Given the description of an element on the screen output the (x, y) to click on. 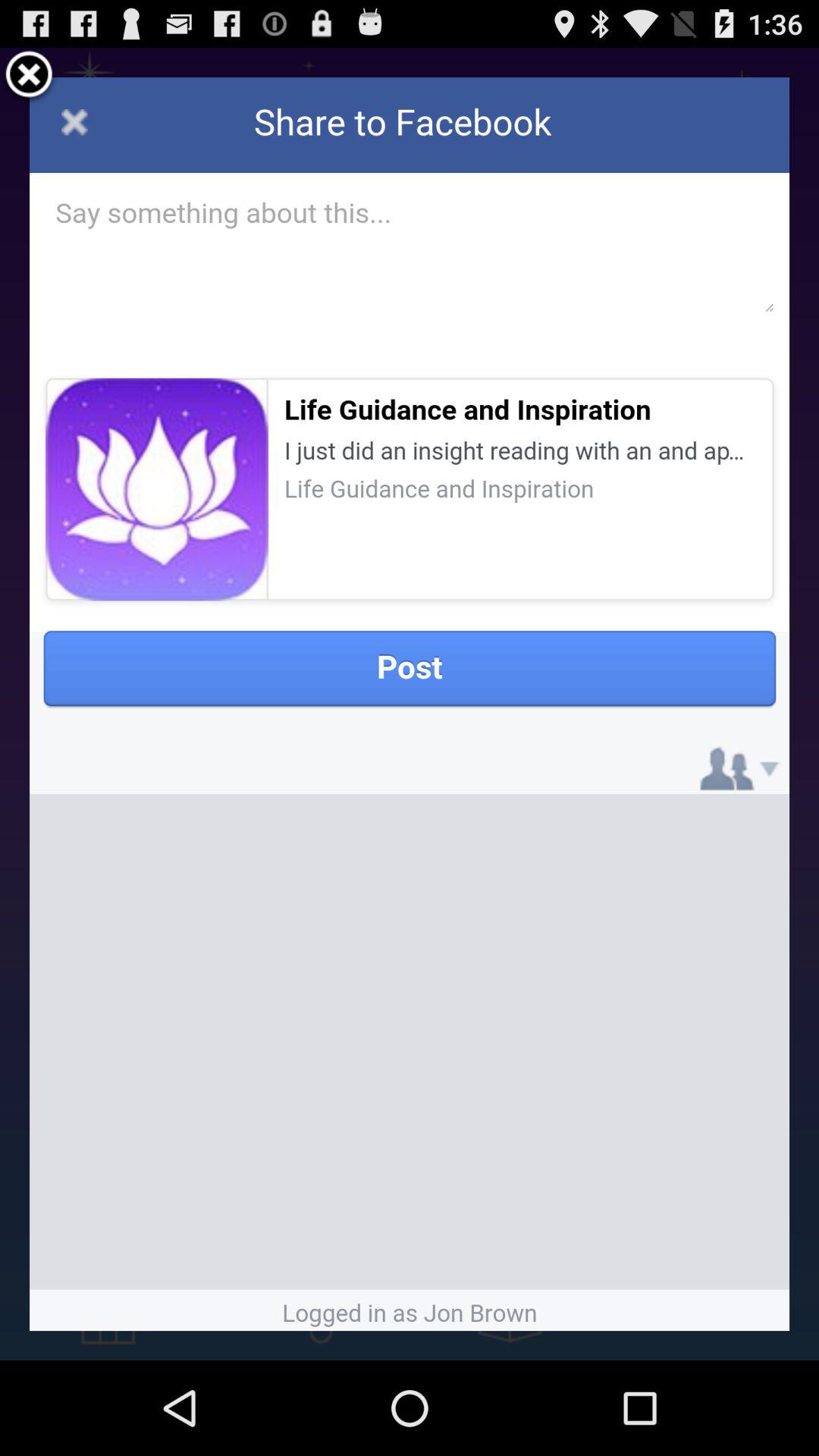
exit screen (29, 76)
